Given the description of an element on the screen output the (x, y) to click on. 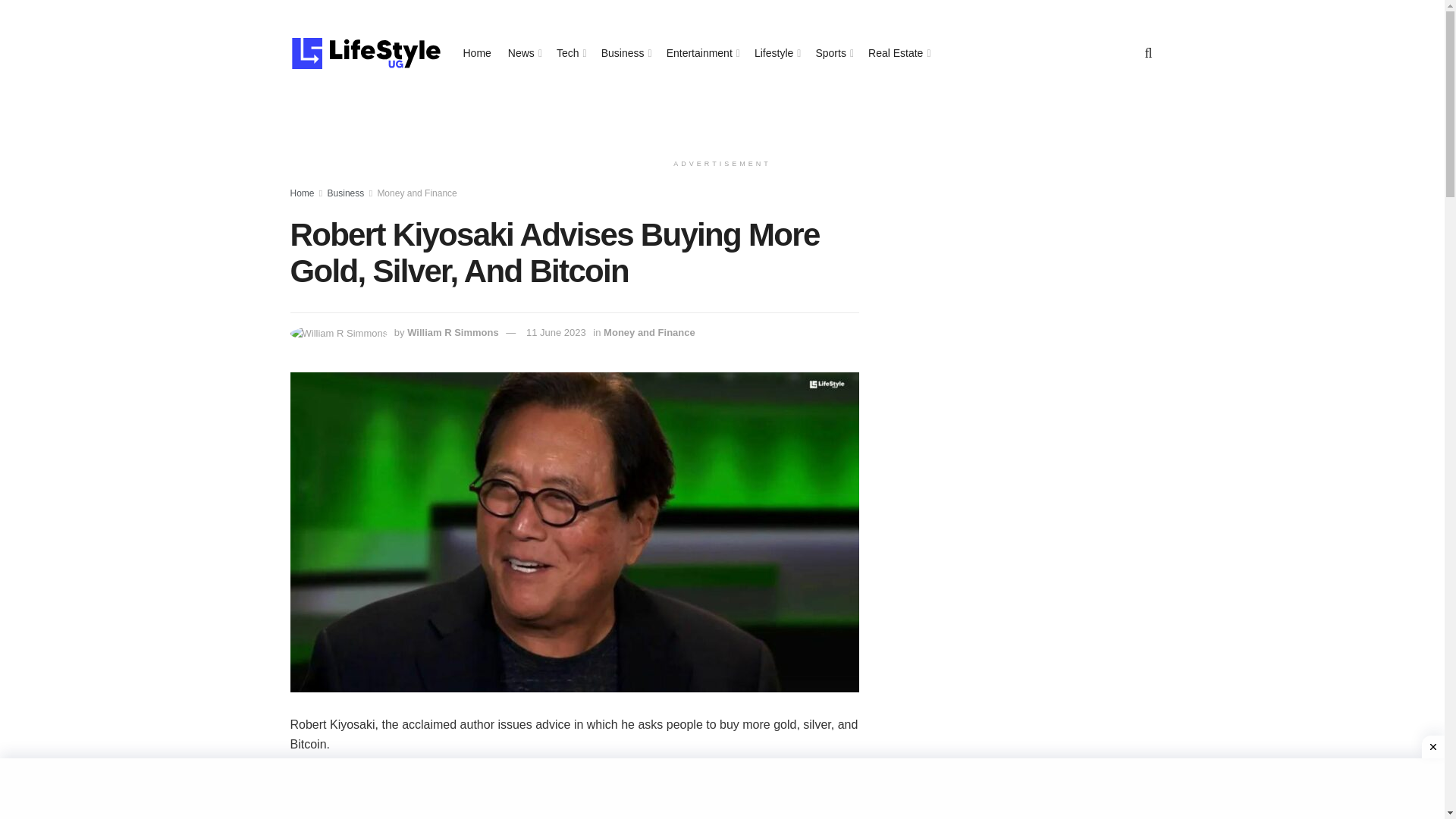
News (524, 52)
Home (476, 52)
Business (625, 52)
Tech (570, 52)
Lifestyle (775, 52)
Business (346, 193)
Real Estate (897, 52)
Entertainment (702, 52)
William R Simmons (453, 332)
Home (301, 193)
